Given the description of an element on the screen output the (x, y) to click on. 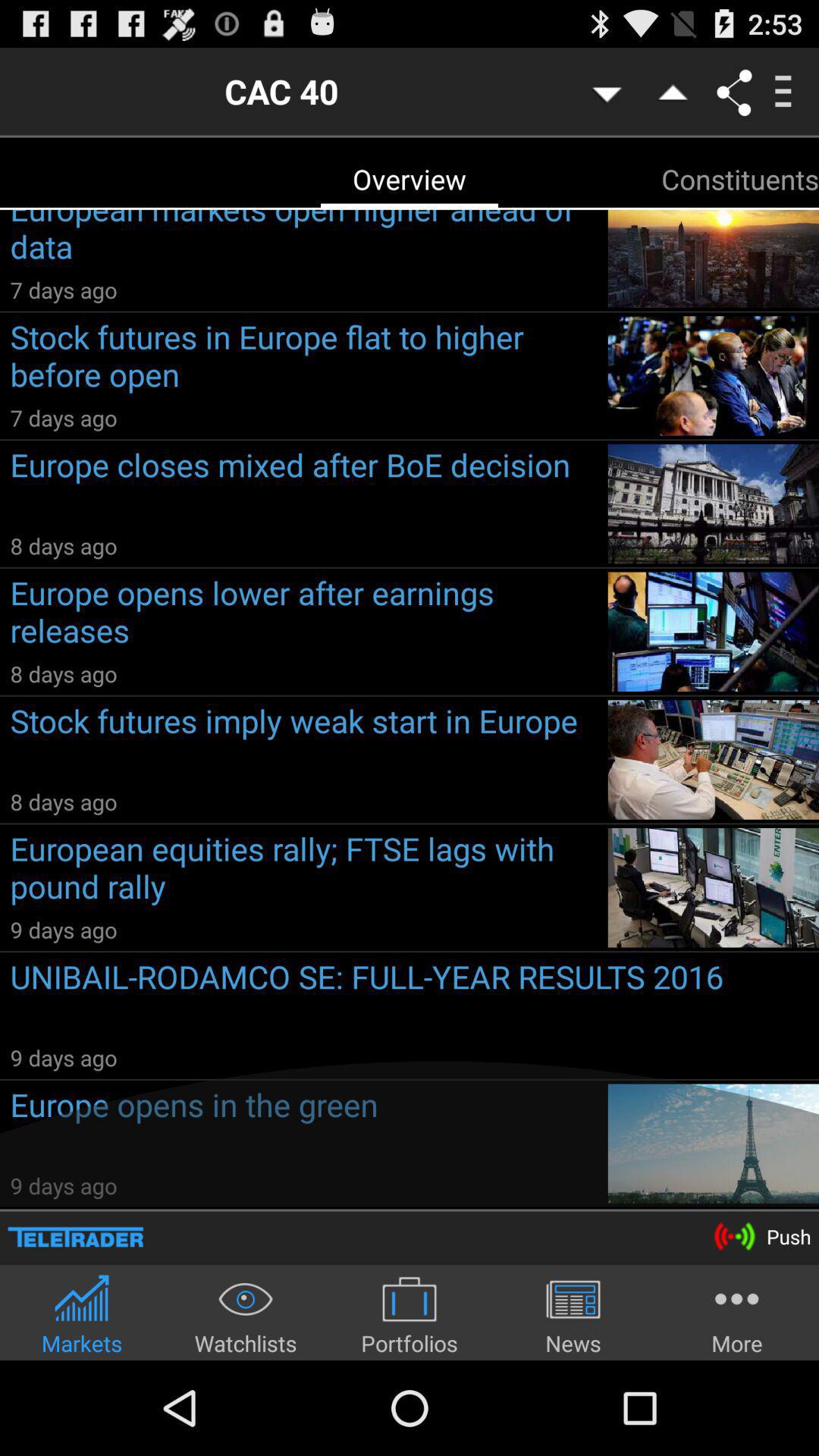
tap app below the 9 days ago app (414, 998)
